Given the description of an element on the screen output the (x, y) to click on. 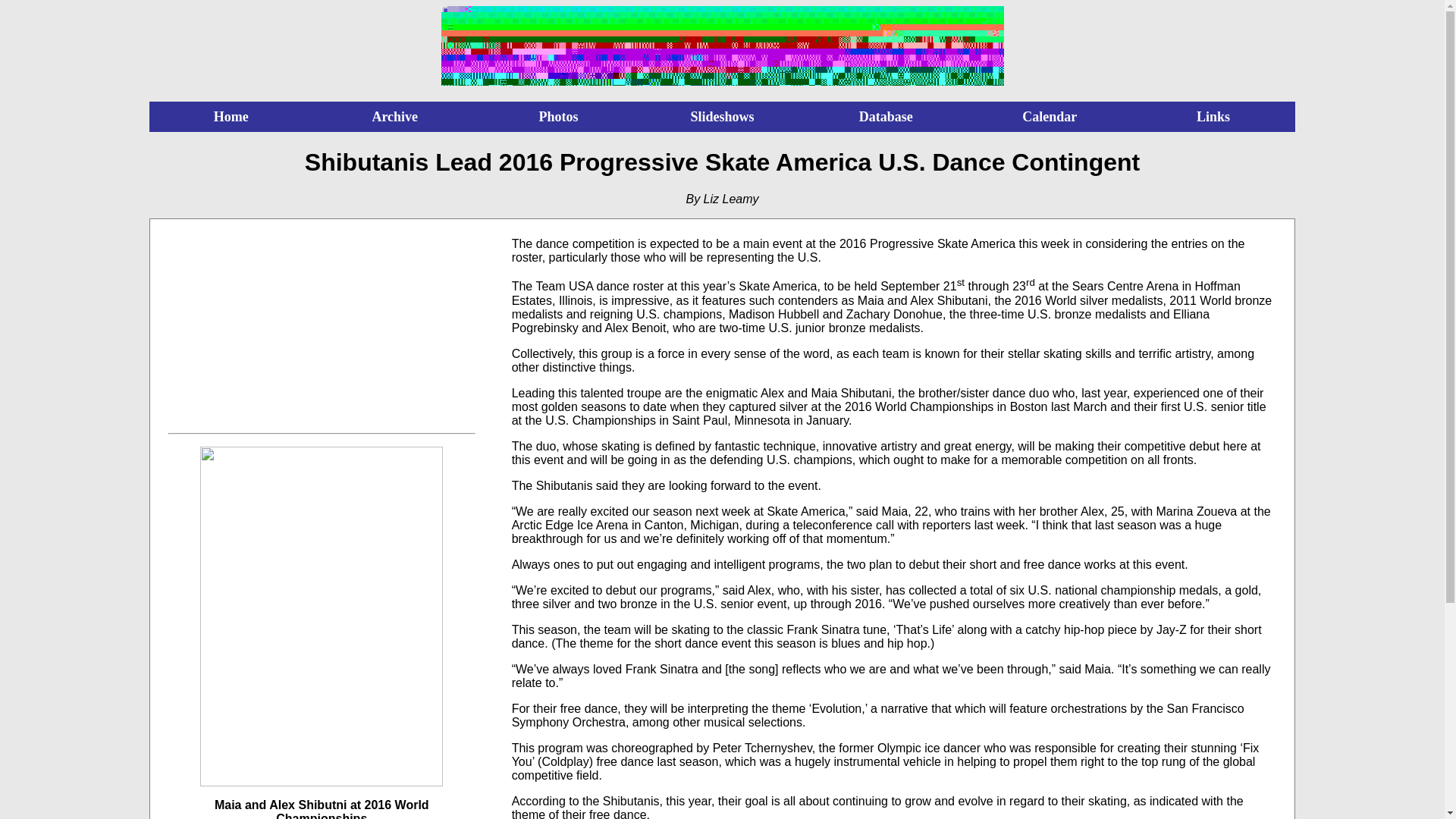
Database (885, 116)
Archive (394, 116)
Links (1213, 116)
Calendar (1049, 116)
Advertisement (321, 331)
Home (231, 116)
Slideshows (722, 116)
Photos (558, 116)
